Given the description of an element on the screen output the (x, y) to click on. 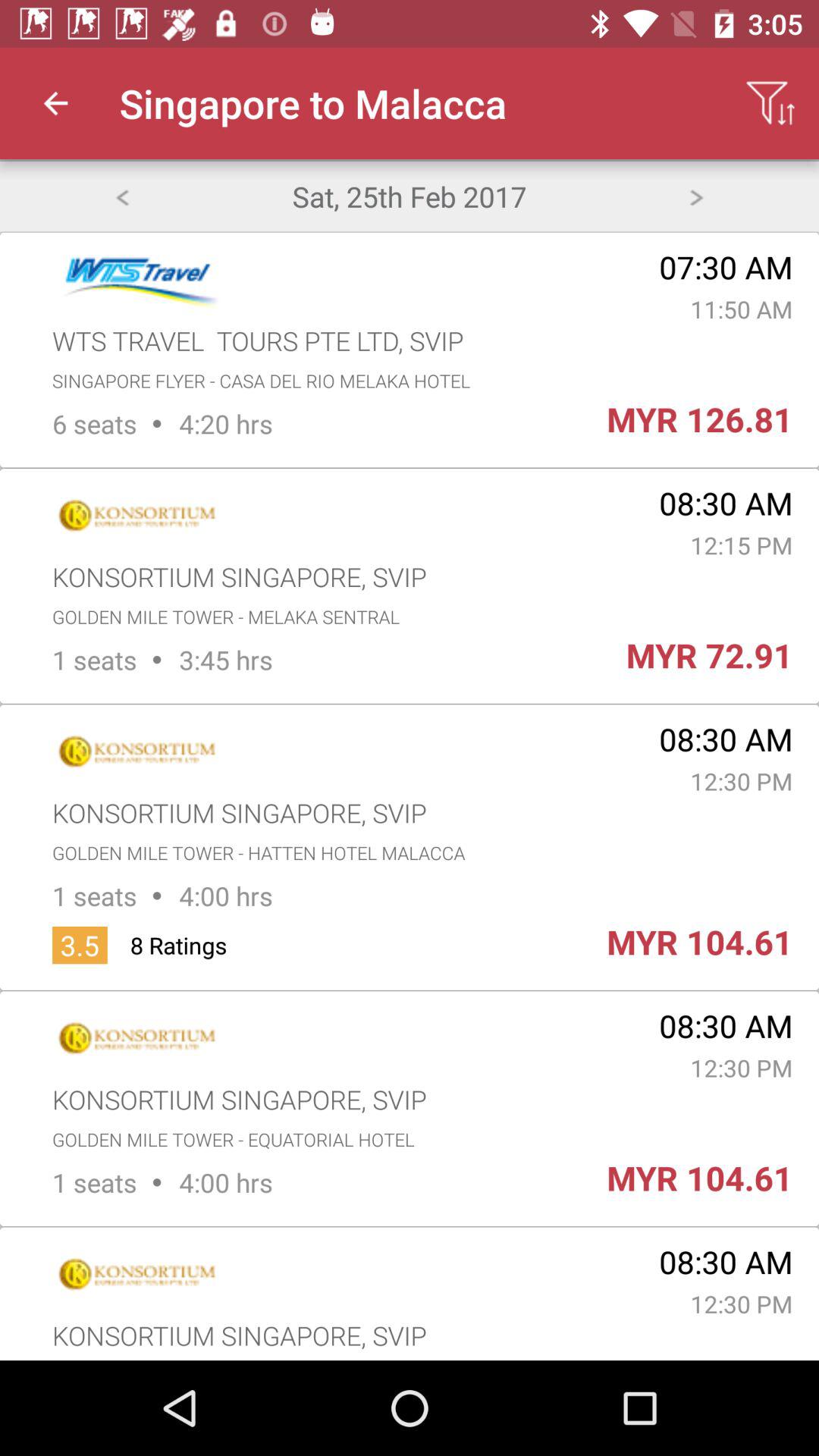
turn off the item above the 07:30 am icon (696, 196)
